Given the description of an element on the screen output the (x, y) to click on. 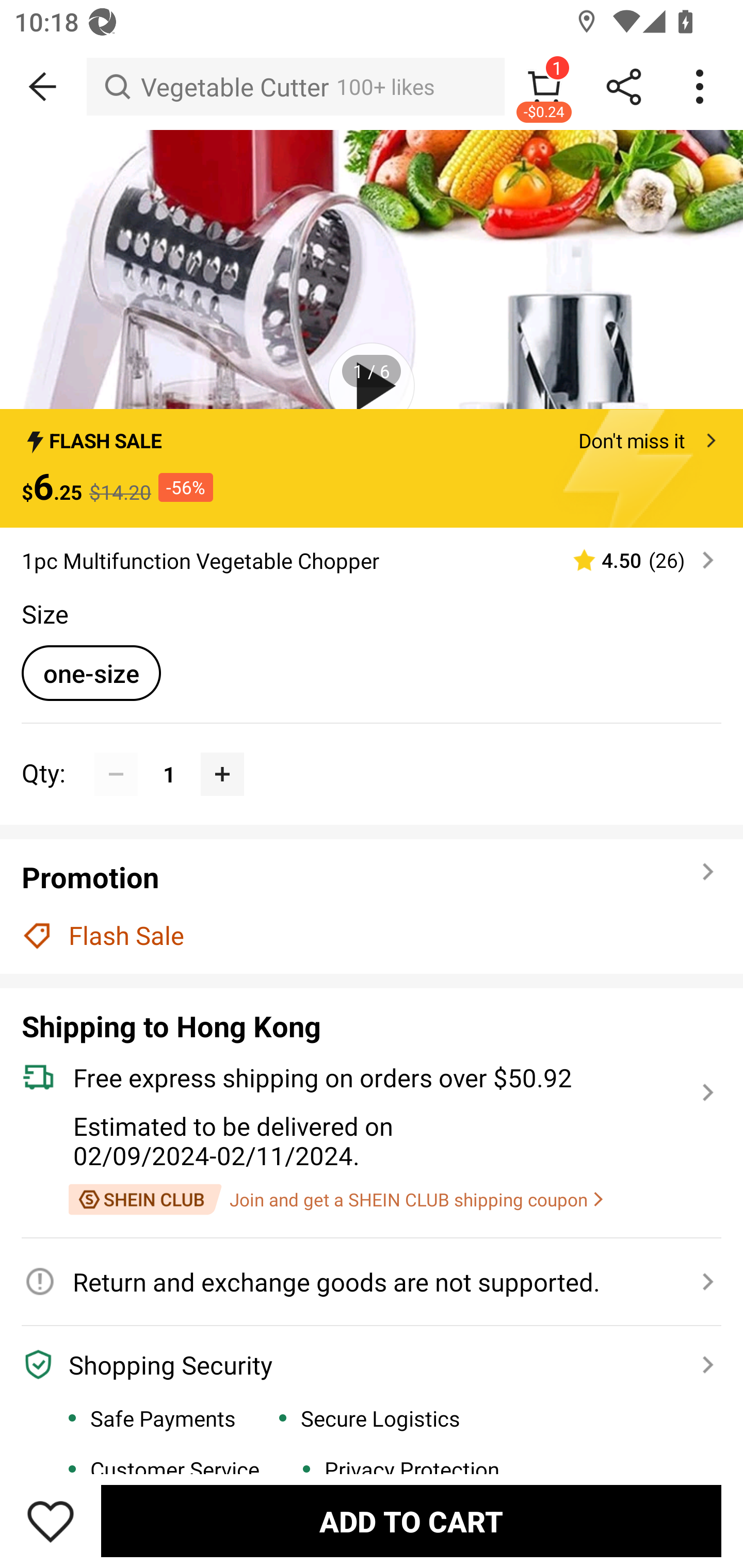
BACK (43, 86)
1 -$0.24 (543, 87)
Vegetable Cutter 100+ likes (295, 87)
PHOTOS 1 / 6 (371, 269)
1 / 6 (371, 370)
FLASH SALE Don't miss it $6.25 $14.20 -56% (371, 468)
4.50 (26) (635, 559)
Size (44, 613)
one-size one-sizeselected option (91, 673)
Qty: 1 (371, 752)
Promotion Flash Sale (371, 905)
Join and get a SHEIN CLUB shipping coupon (335, 1199)
Return and exchange goods are not supported. (359, 1281)
ADD TO CART (411, 1520)
Save (50, 1520)
